Given the description of an element on the screen output the (x, y) to click on. 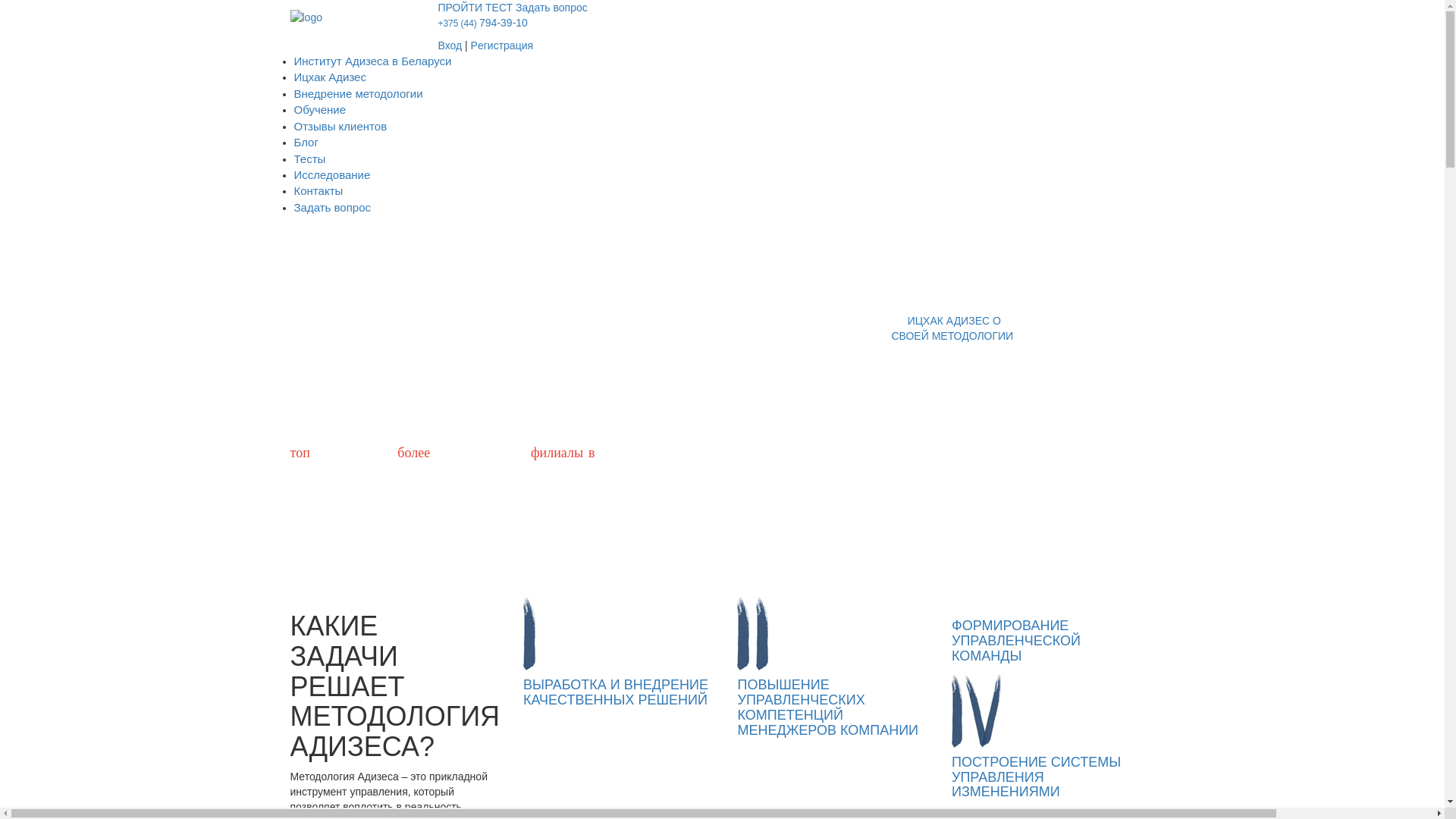
+375 (44) 794-39-10 Element type: text (796, 22)
